Given the description of an element on the screen output the (x, y) to click on. 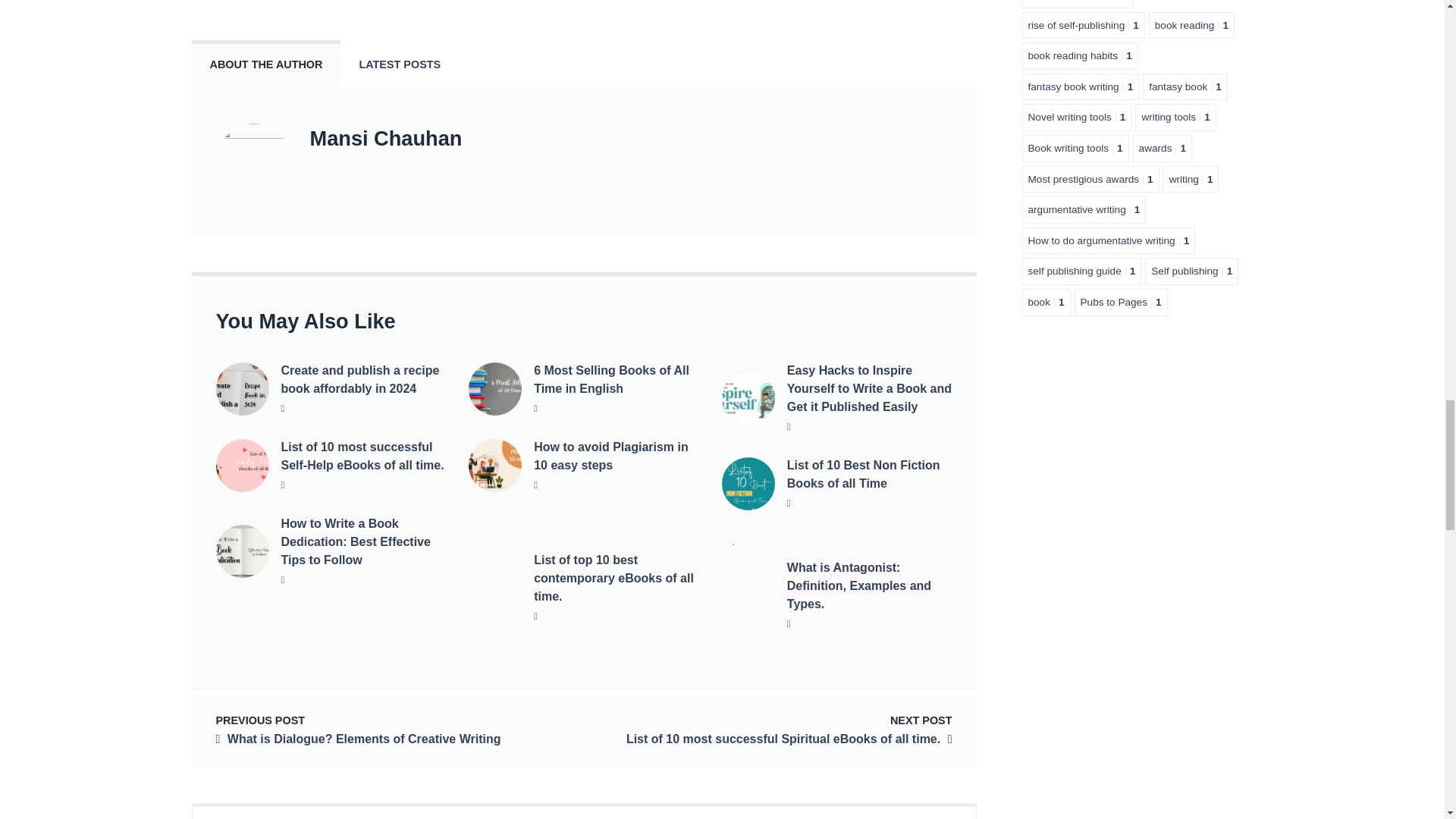
Mansi Chauhan (384, 137)
ABOUT THE AUTHOR (265, 64)
LATEST POSTS (399, 64)
